Given the description of an element on the screen output the (x, y) to click on. 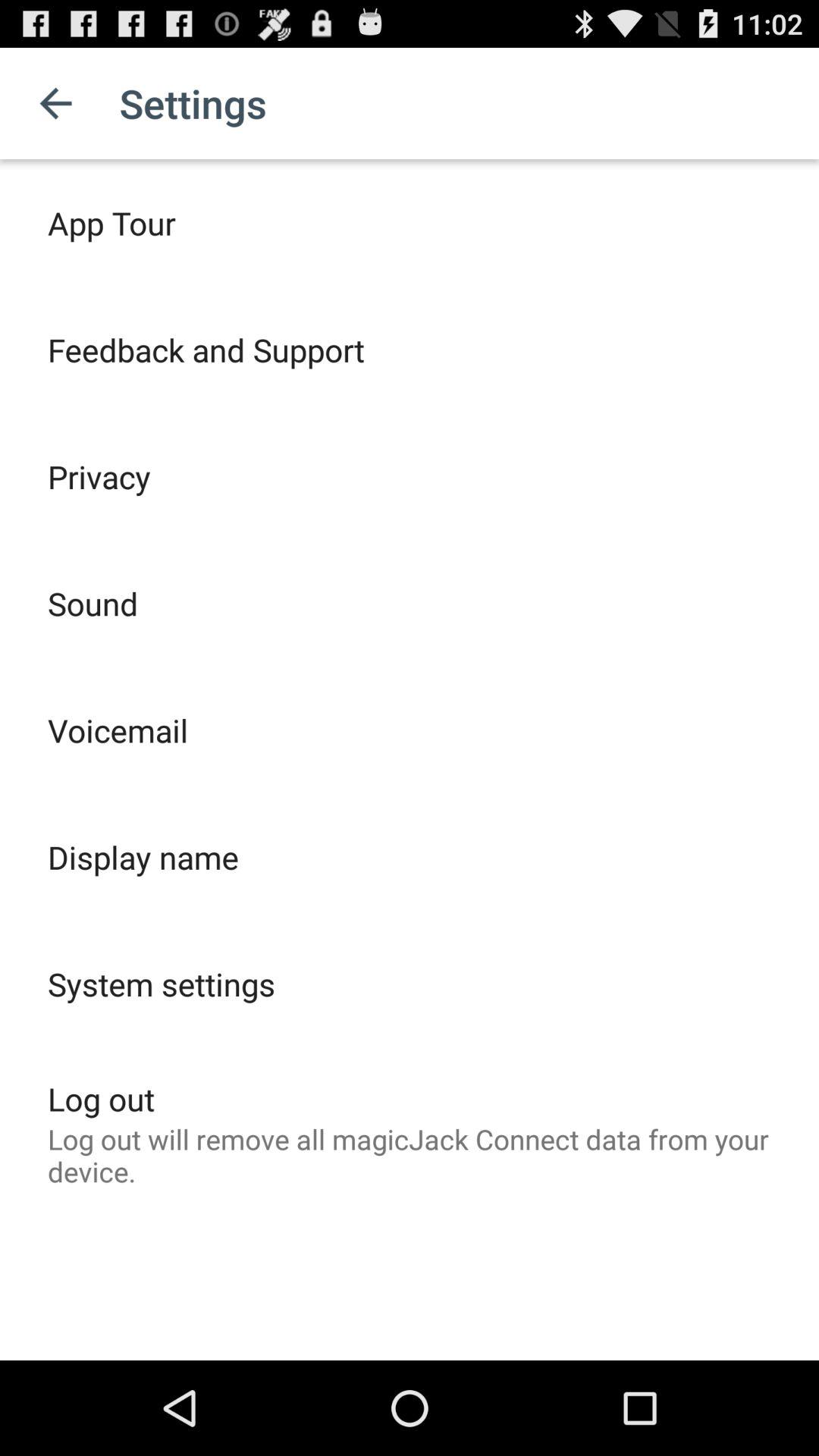
tap the item below the feedback and support icon (98, 476)
